Given the description of an element on the screen output the (x, y) to click on. 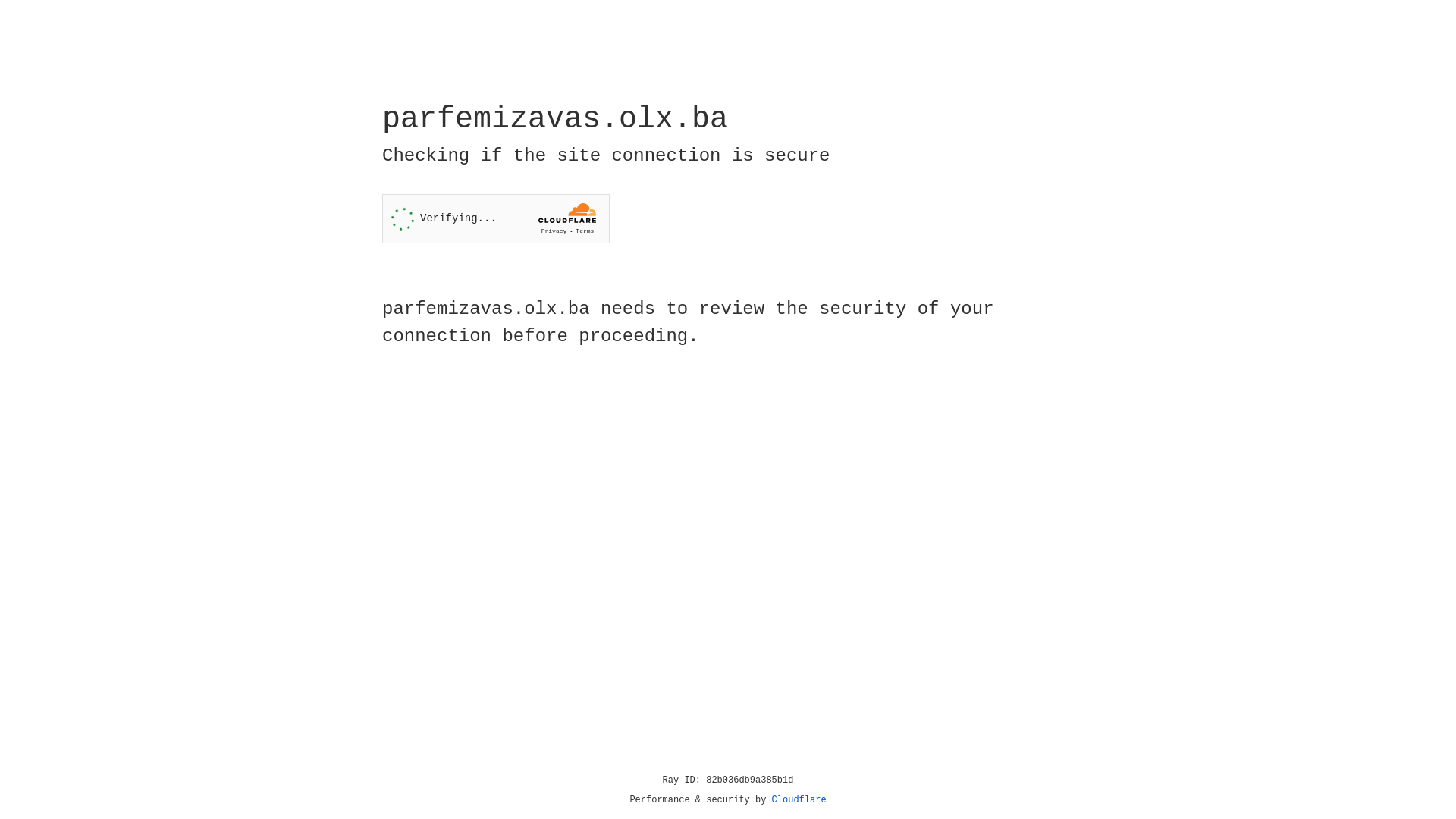
Cloudflare Element type: text (798, 799)
Widget containing a Cloudflare security challenge Element type: hover (495, 218)
